Given the description of an element on the screen output the (x, y) to click on. 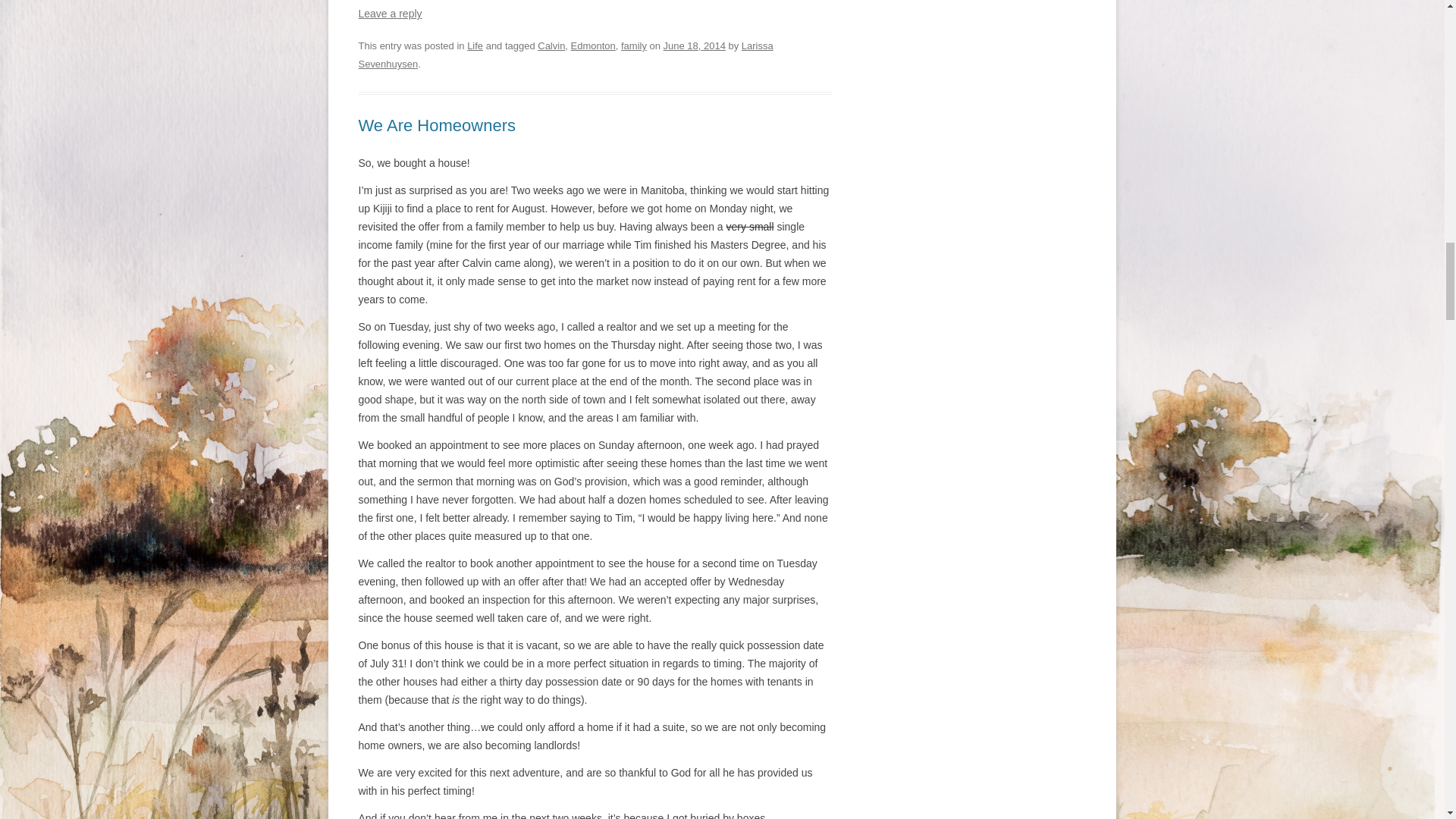
June 18, 2014 (694, 45)
family (633, 45)
Calvin (550, 45)
Larissa Sevenhuysen (565, 54)
1:20 pm (694, 45)
We Are Homeowners (436, 125)
Life (475, 45)
Leave a reply (390, 13)
Permalink to We Are Homeowners (436, 125)
View all posts by Larissa Sevenhuysen (565, 54)
Edmonton (592, 45)
